Given the description of an element on the screen output the (x, y) to click on. 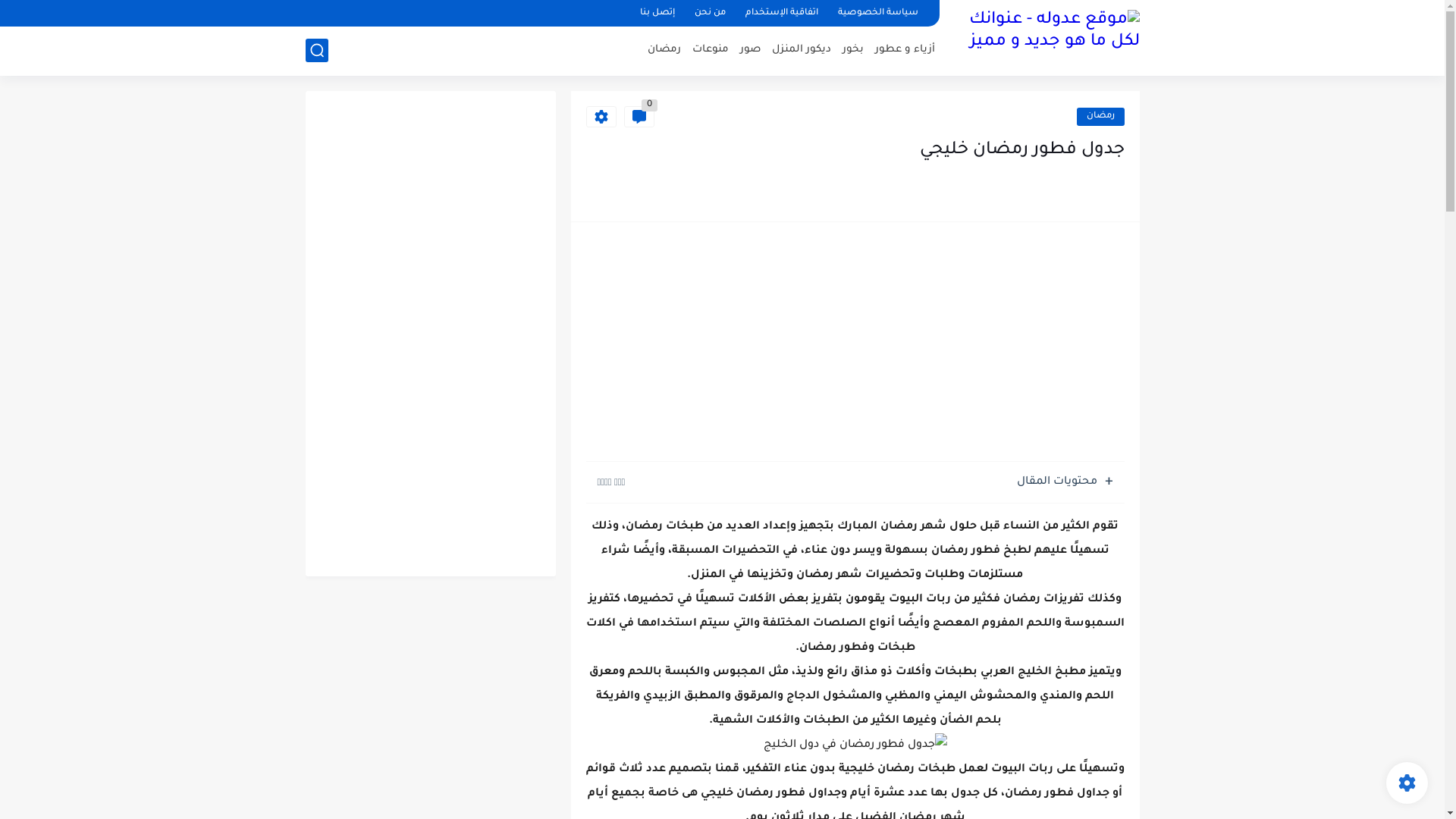
Advertisement Element type: hover (429, 333)
Advertisement Element type: hover (854, 342)
0 Element type: text (638, 116)
